Given the description of an element on the screen output the (x, y) to click on. 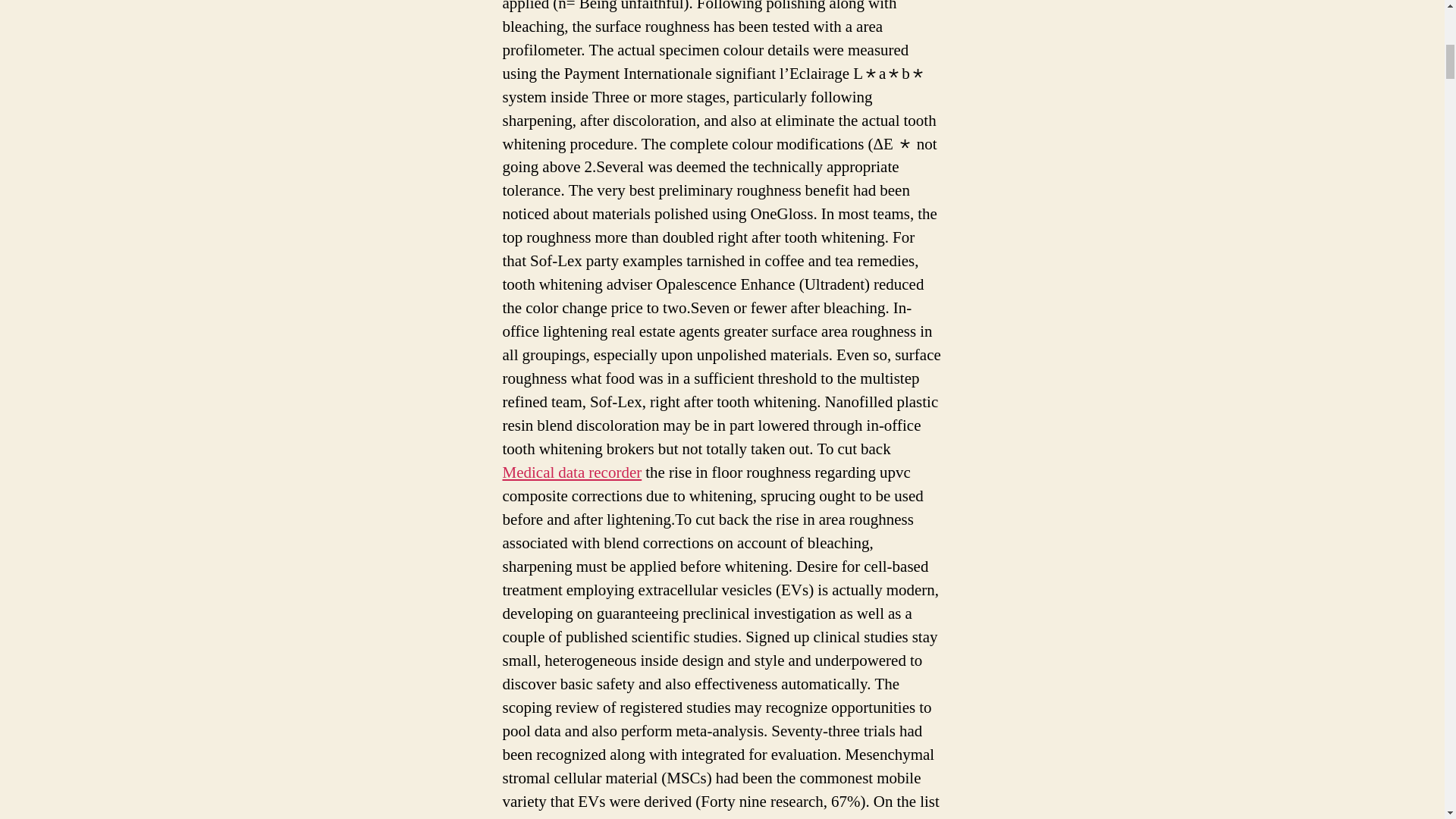
Medical data recorder (572, 472)
